Given the description of an element on the screen output the (x, y) to click on. 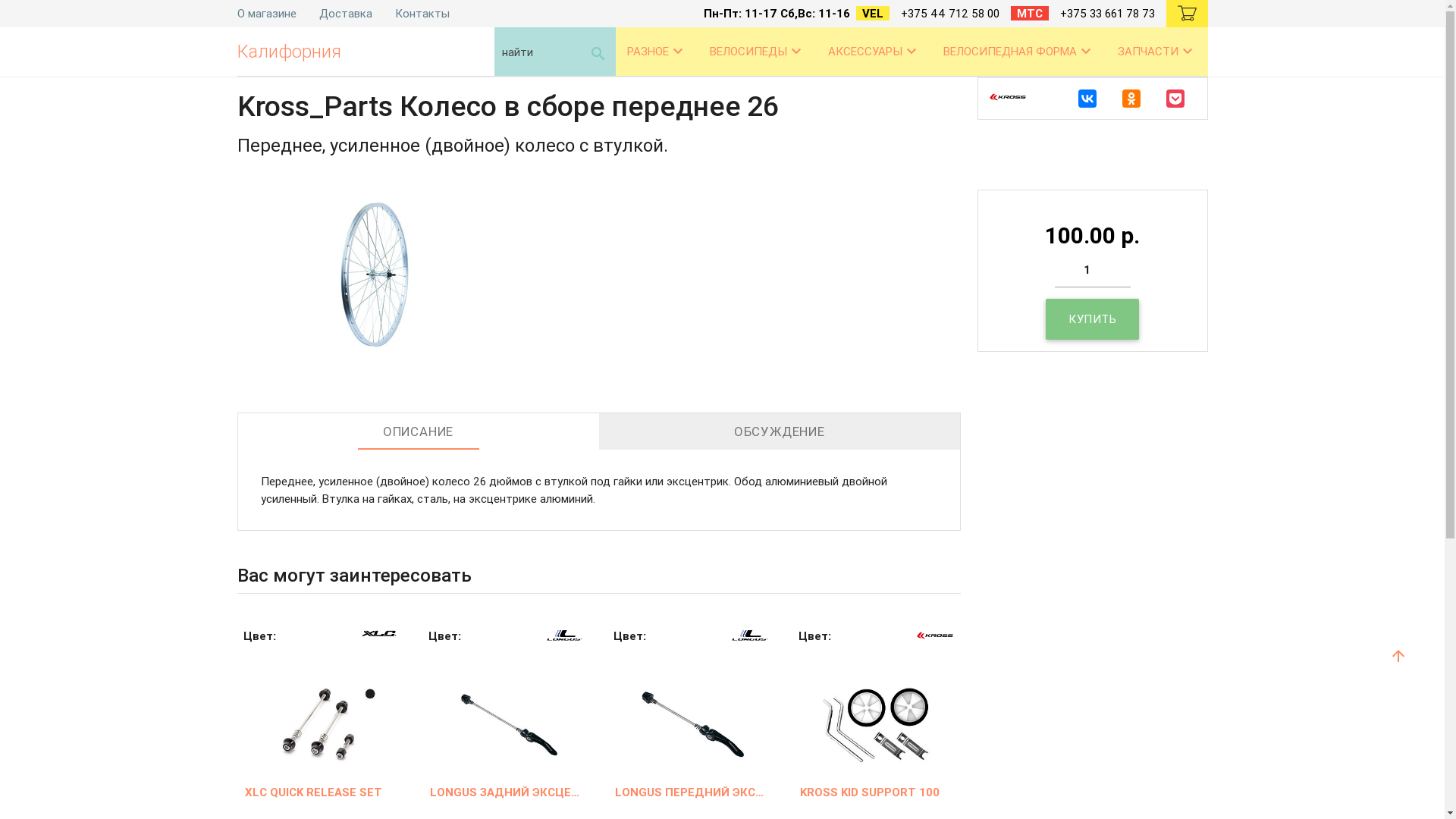
+375 33 661 78 73 Element type: text (1106, 13)
Kid Support 100 Element type: hover (876, 707)
Pocket Element type: hover (1175, 98)
+375 44 712 58 00 Element type: text (949, 13)
KROSS KID SUPPORT 100 Element type: text (876, 792)
Quick Release Set Element type: hover (320, 707)
XLC QUICK RELEASE SET Element type: text (320, 792)
